Given the description of an element on the screen output the (x, y) to click on. 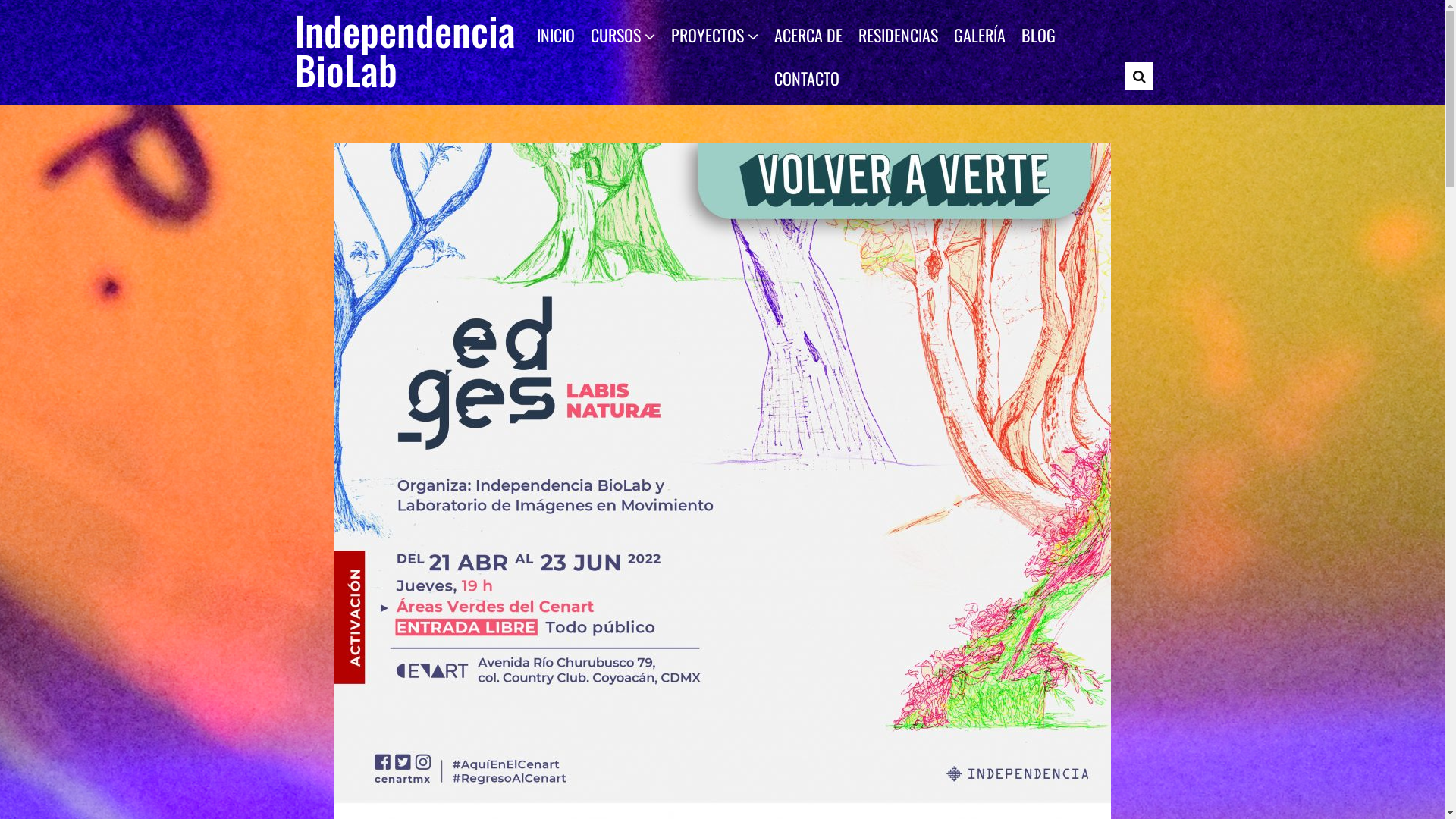
CONTACTO Element type: text (805, 77)
CURSOS Element type: text (621, 35)
Independencia BioLab Element type: text (404, 49)
INICIO Element type: text (555, 34)
BLOG Element type: text (1037, 34)
ACERCA DE Element type: text (807, 34)
RESIDENCIAS Element type: text (898, 34)
PROYECTOS Element type: text (713, 35)
